Given the description of an element on the screen output the (x, y) to click on. 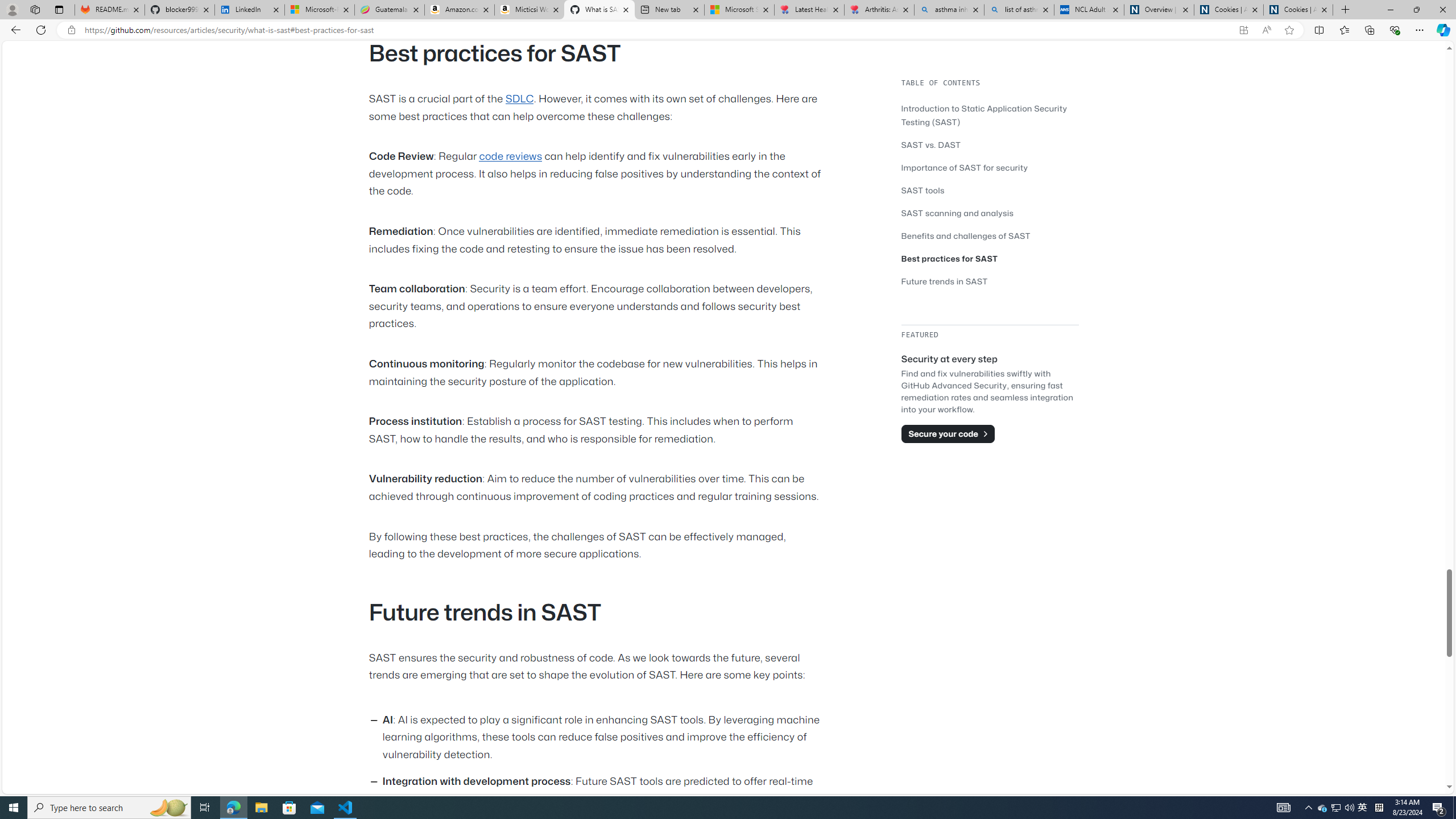
SDLC (519, 99)
code reviews (511, 156)
Future trends in SAST (989, 281)
Benefits and challenges of SAST (965, 235)
